Given the description of an element on the screen output the (x, y) to click on. 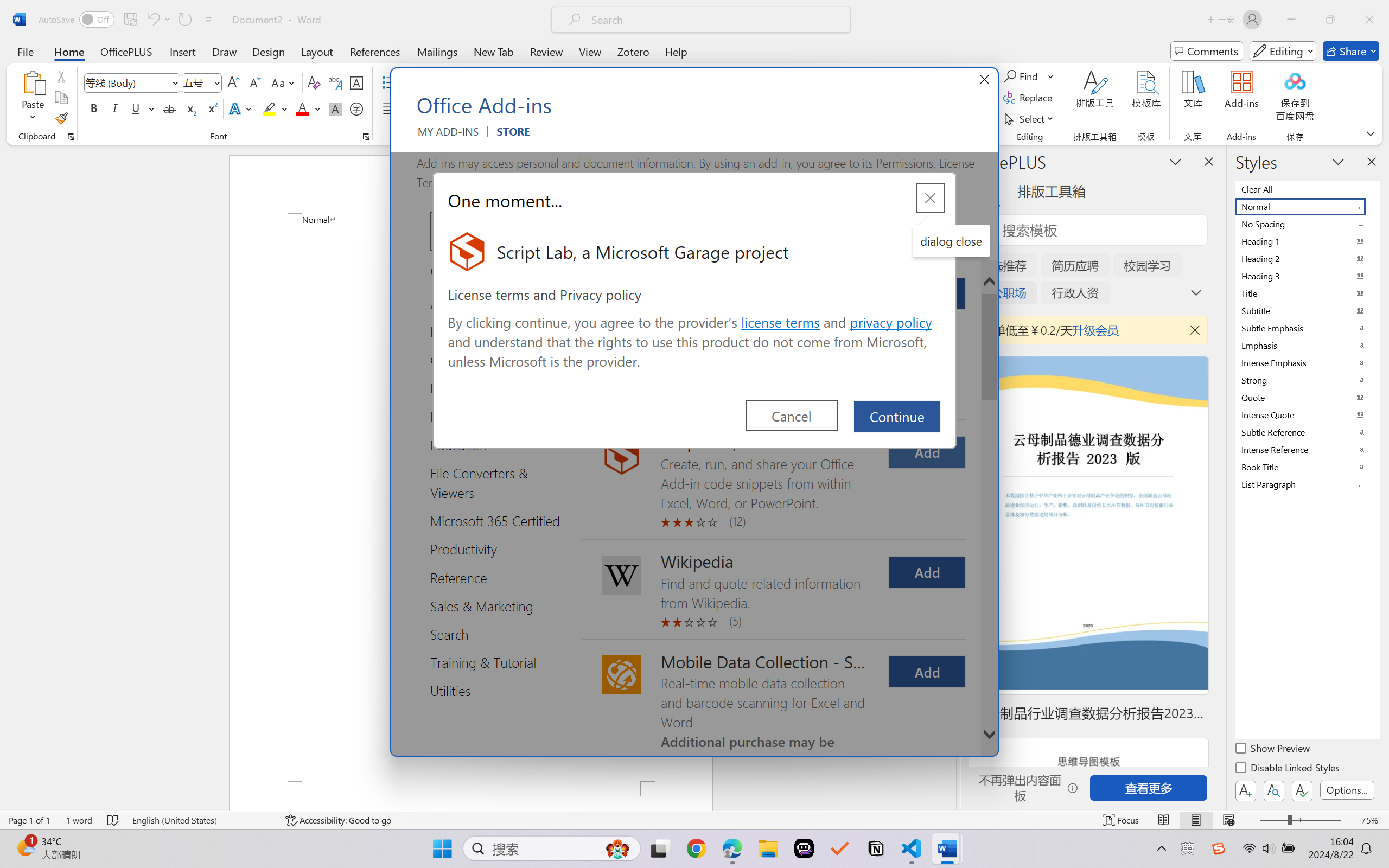
Notion (875, 848)
Copy (60, 97)
Share (1350, 51)
Zoom In (1348, 819)
STORE (513, 135)
List Paragraph (1306, 484)
Quick Access Toolbar (127, 19)
Close (1369, 19)
Italic (115, 108)
